Given the description of an element on the screen output the (x, y) to click on. 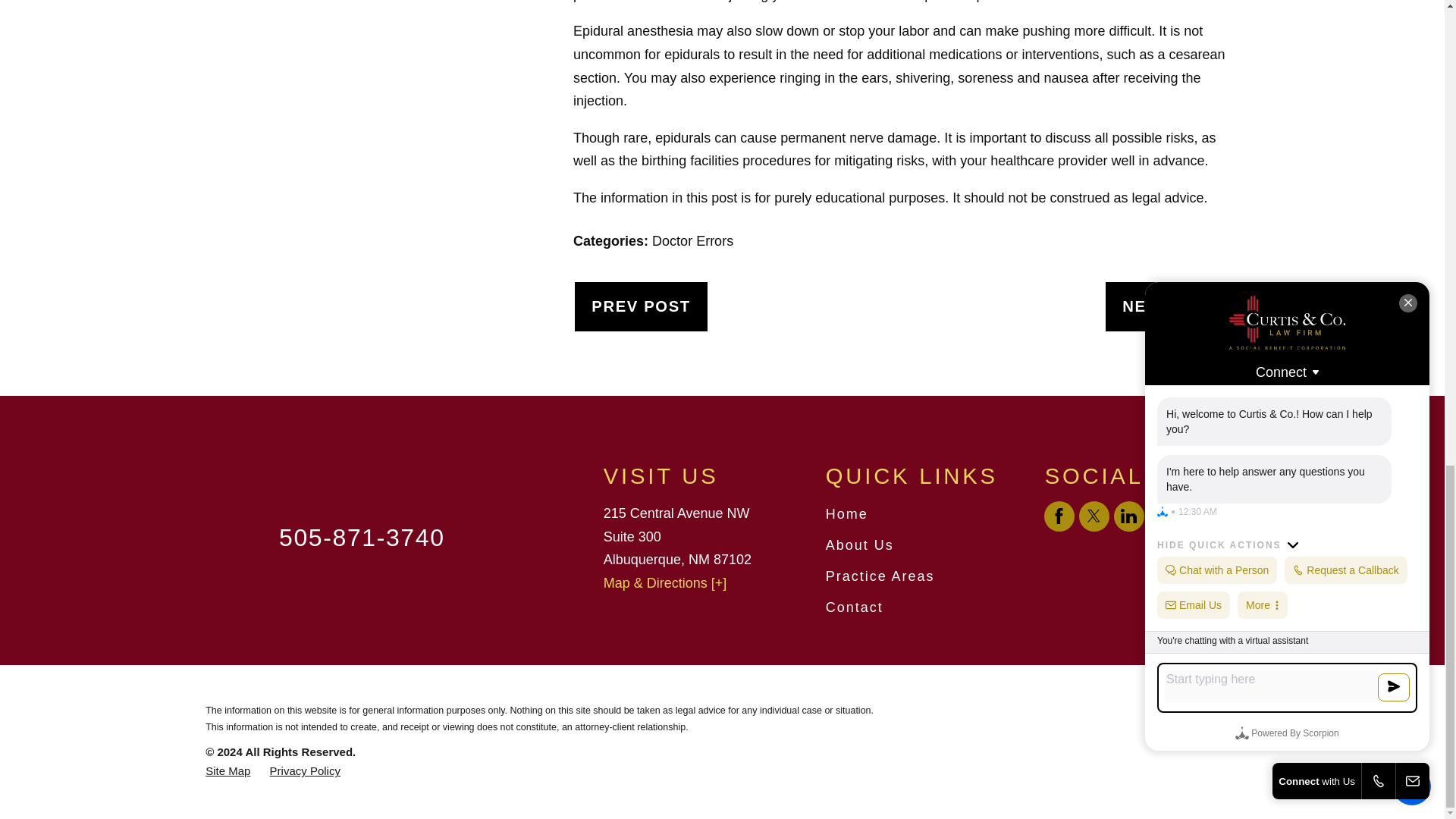
LinkedIn (1128, 516)
Instagram (1163, 516)
PREV POST (641, 306)
NEXT POST (1171, 306)
Twitter (1093, 516)
Doctor Errors (692, 240)
Facebook (1058, 516)
